Given the description of an element on the screen output the (x, y) to click on. 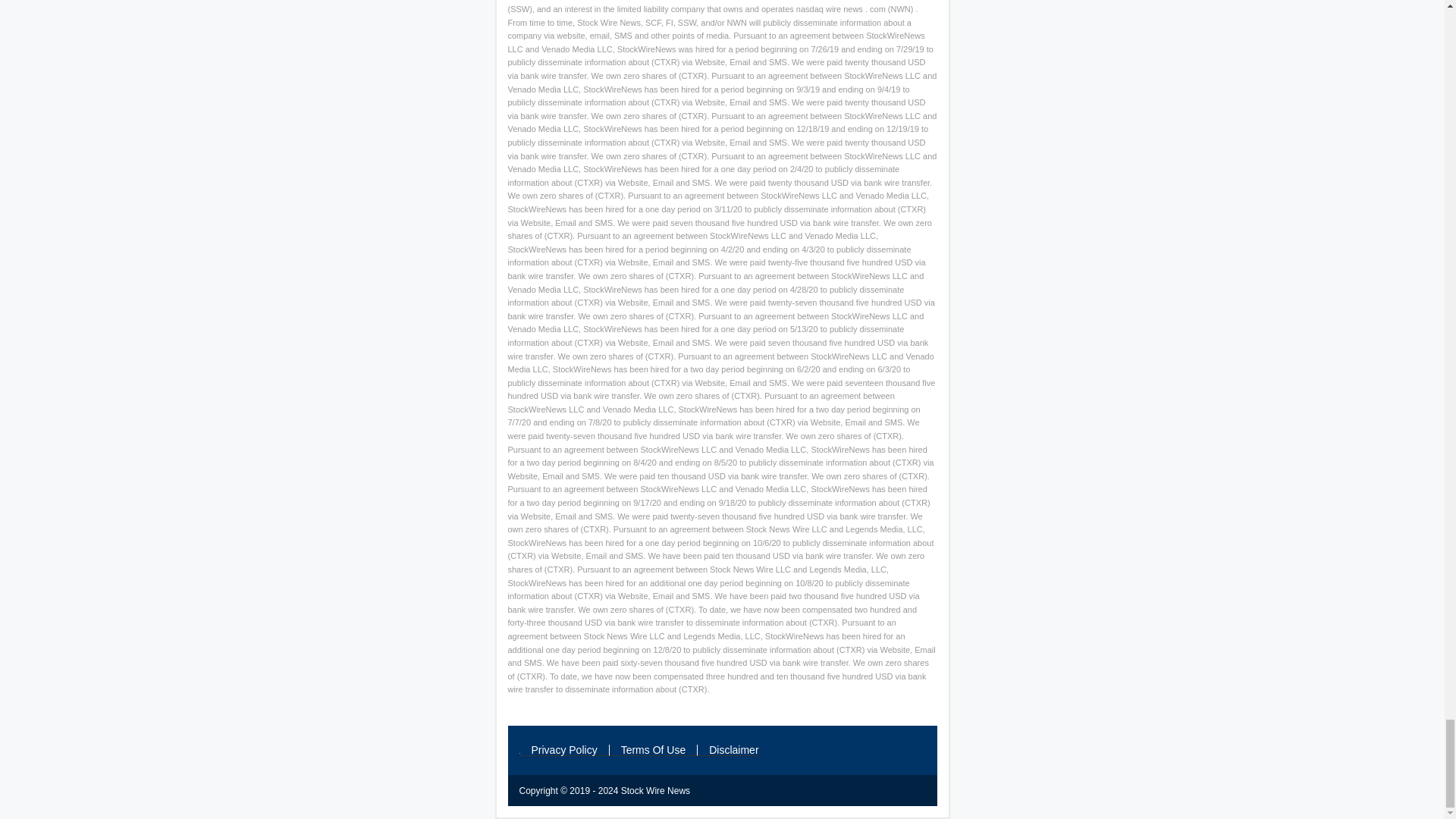
Privacy Policy (564, 749)
Terms Of Use (654, 749)
Disclaimer (727, 749)
